Given the description of an element on the screen output the (x, y) to click on. 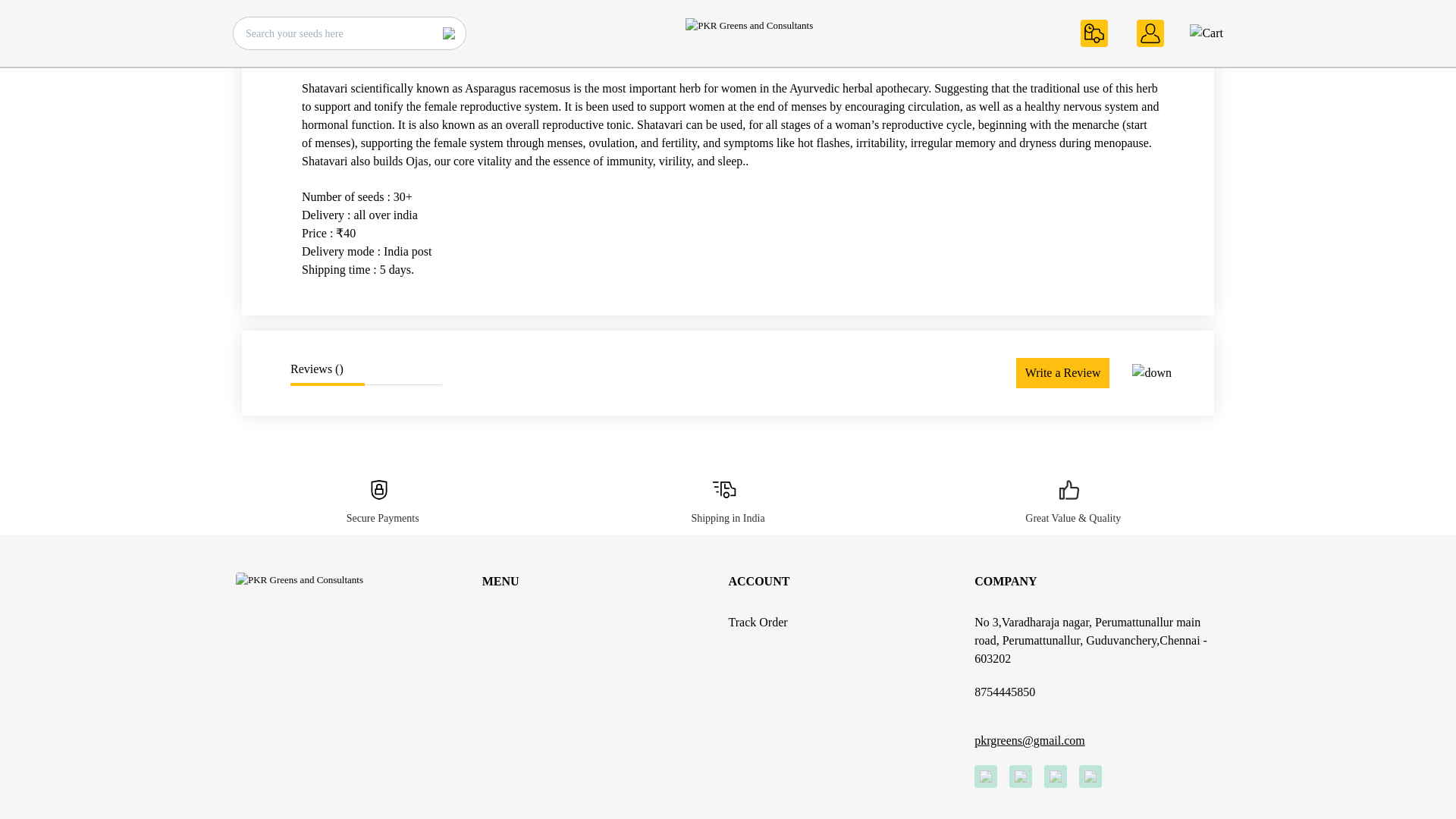
Twitter (1020, 775)
8754445850 (1004, 692)
Facebook (985, 775)
Track Order (851, 622)
Write a Review (1062, 372)
Instagram (1055, 775)
Write a Review (1062, 372)
YouTube (1090, 775)
